Given the description of an element on the screen output the (x, y) to click on. 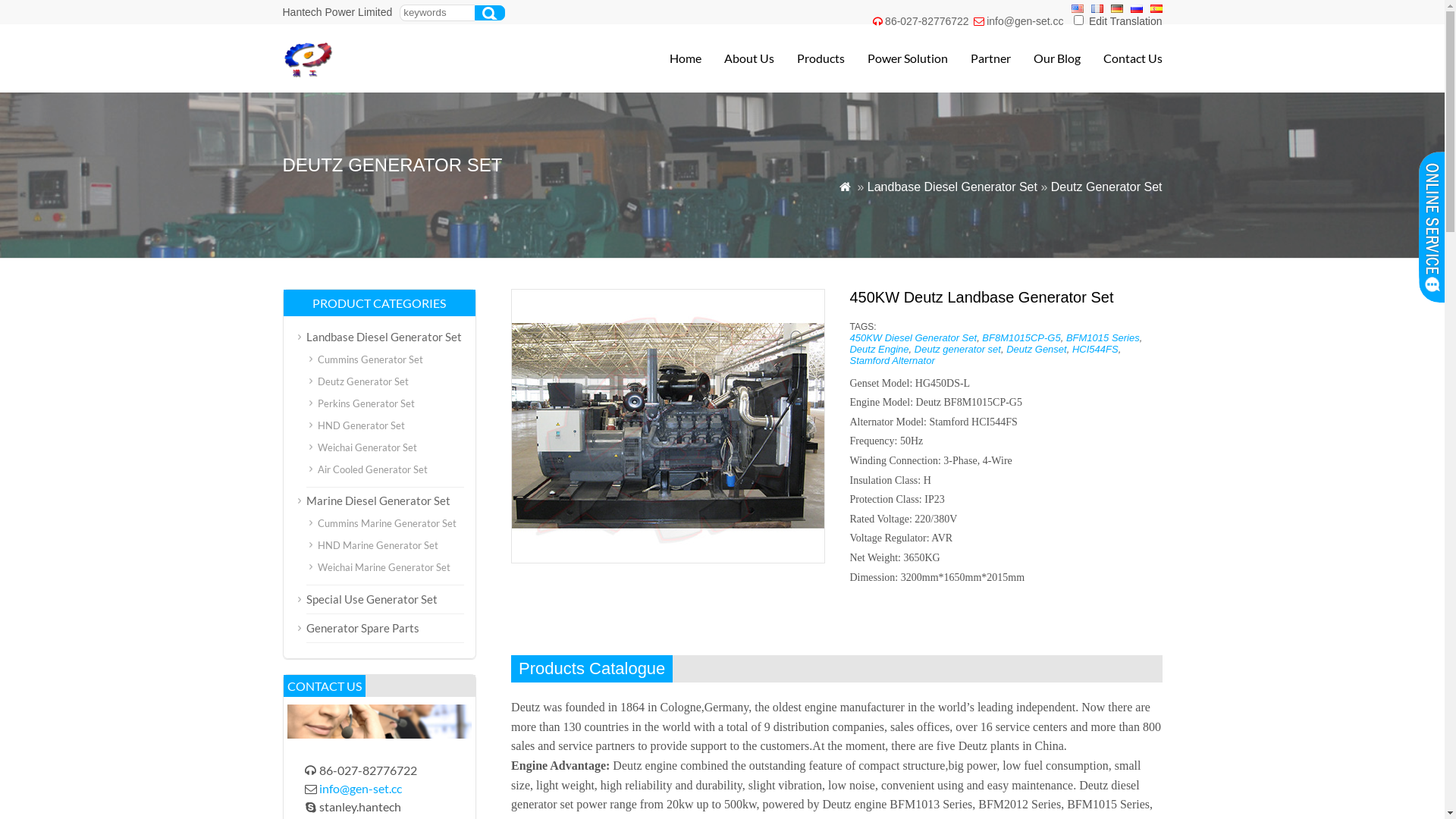
Partner Element type: text (978, 58)
BFM1015 Series Element type: text (1102, 337)
Marine Diesel Generator Set Element type: text (378, 500)
info@gen-set.cc Element type: text (1024, 21)
Weichai Generator Set Element type: text (366, 447)
Our Blog Element type: text (1044, 58)
Landbase Diesel Generator Set Element type: text (383, 336)
About Us Element type: text (736, 58)
Weichai Marine Generator Set Element type: text (382, 567)
BF8M1015CP-G5 Element type: text (1021, 337)
Special Use Generator Set Element type: text (371, 598)
1 Element type: text (1078, 20)
Deutsch Element type: hover (1116, 8)
Deutz Engine Element type: text (878, 348)
info@gen-set.cc Element type: text (360, 788)
Deutz Generator Set Element type: text (361, 381)
HND Generator Set Element type: text (360, 425)
Products Element type: text (808, 58)
Generator Spare Parts Element type: text (362, 627)
Contact Us Element type: text (1120, 58)
English Element type: hover (1076, 8)
Power Solution Element type: text (895, 58)
Deutz Generator Set Element type: text (1106, 186)
Perkins Generator Set Element type: text (365, 403)
Landbase Diesel Generator Set Element type: text (952, 186)
Air Cooled Generator Set Element type: text (371, 469)
86-027-82776722 Element type: text (926, 21)
HND Marine Generator Set Element type: text (376, 545)
HCI544FS Element type: text (1095, 348)
Cummins Generator Set Element type: text (369, 359)
Cummins Marine Generator Set Element type: text (385, 523)
Deutz Genset Element type: text (1036, 348)
Stamford Alternator Element type: text (891, 360)
450KW Diesel Generator Set Element type: text (912, 337)
Deutz generator set Element type: text (957, 348)
Diesel Generator Set|Generator Set Manufacturer Element type: hover (387, 74)
Home Element type: text (673, 58)
